Given the description of an element on the screen output the (x, y) to click on. 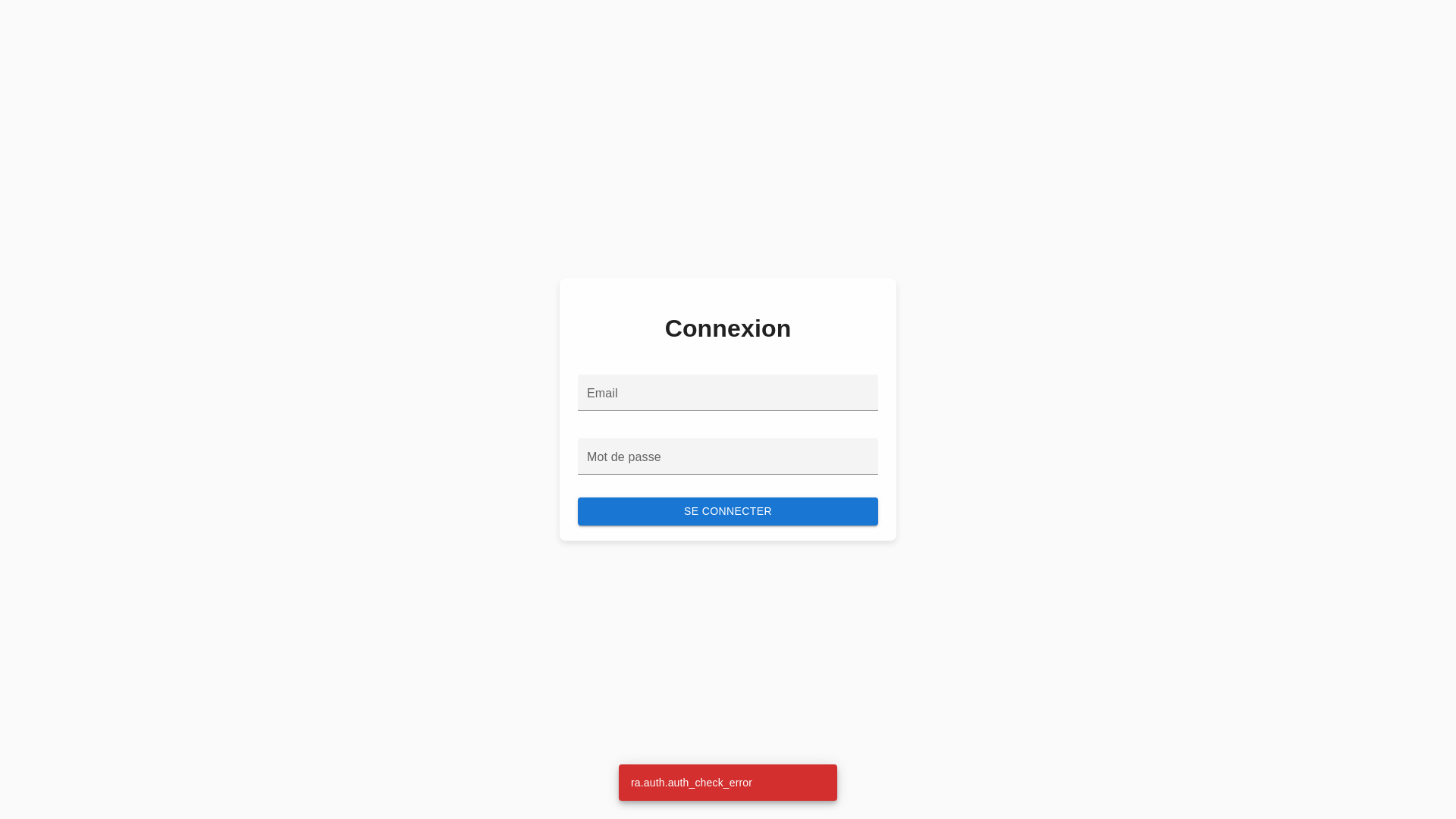
SE CONNECTER (727, 511)
